Given the description of an element on the screen output the (x, y) to click on. 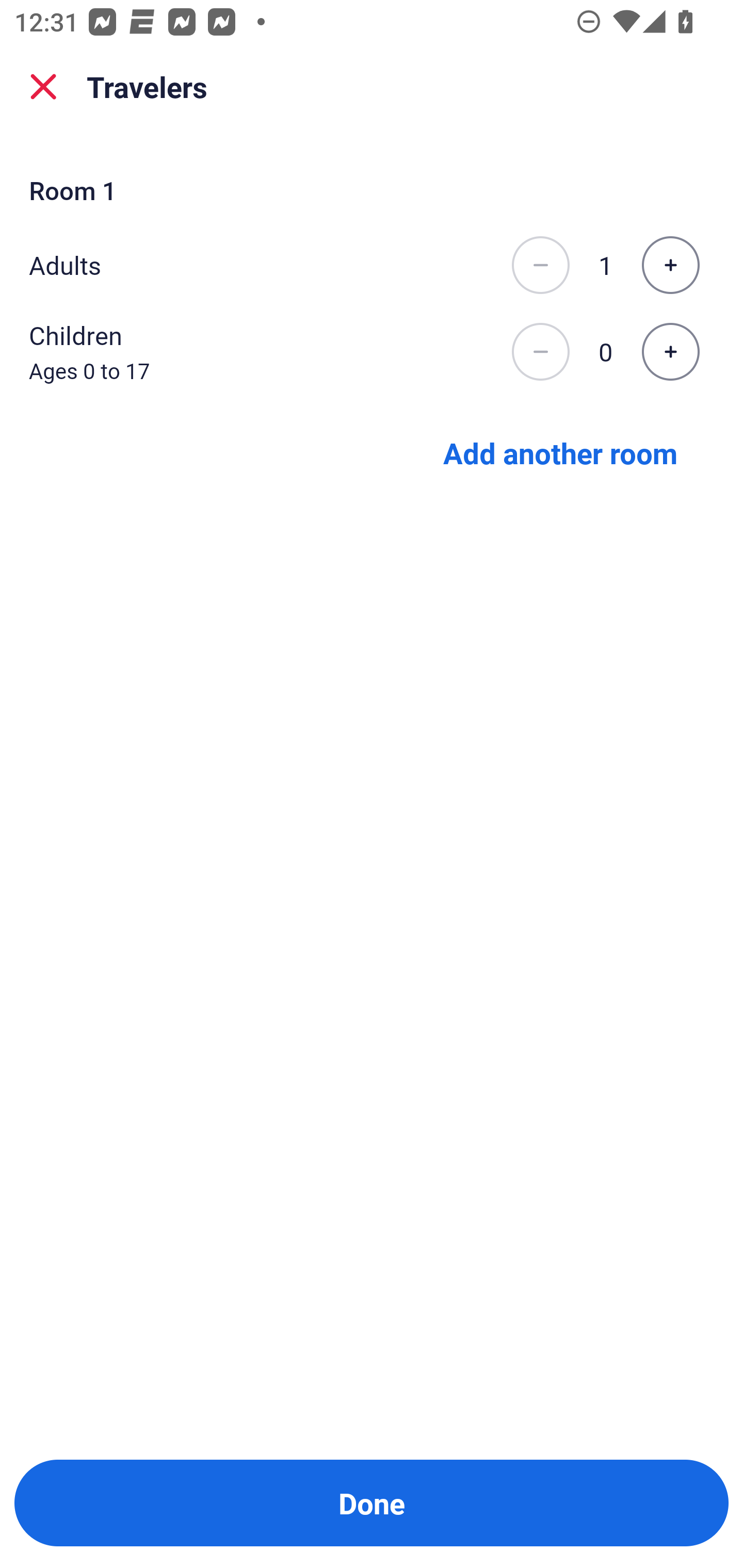
close (43, 86)
Decrease the number of adults (540, 264)
Increase the number of adults (670, 264)
Decrease the number of children (540, 351)
Increase the number of children (670, 351)
Add another room (560, 452)
Done (371, 1502)
